Given the description of an element on the screen output the (x, y) to click on. 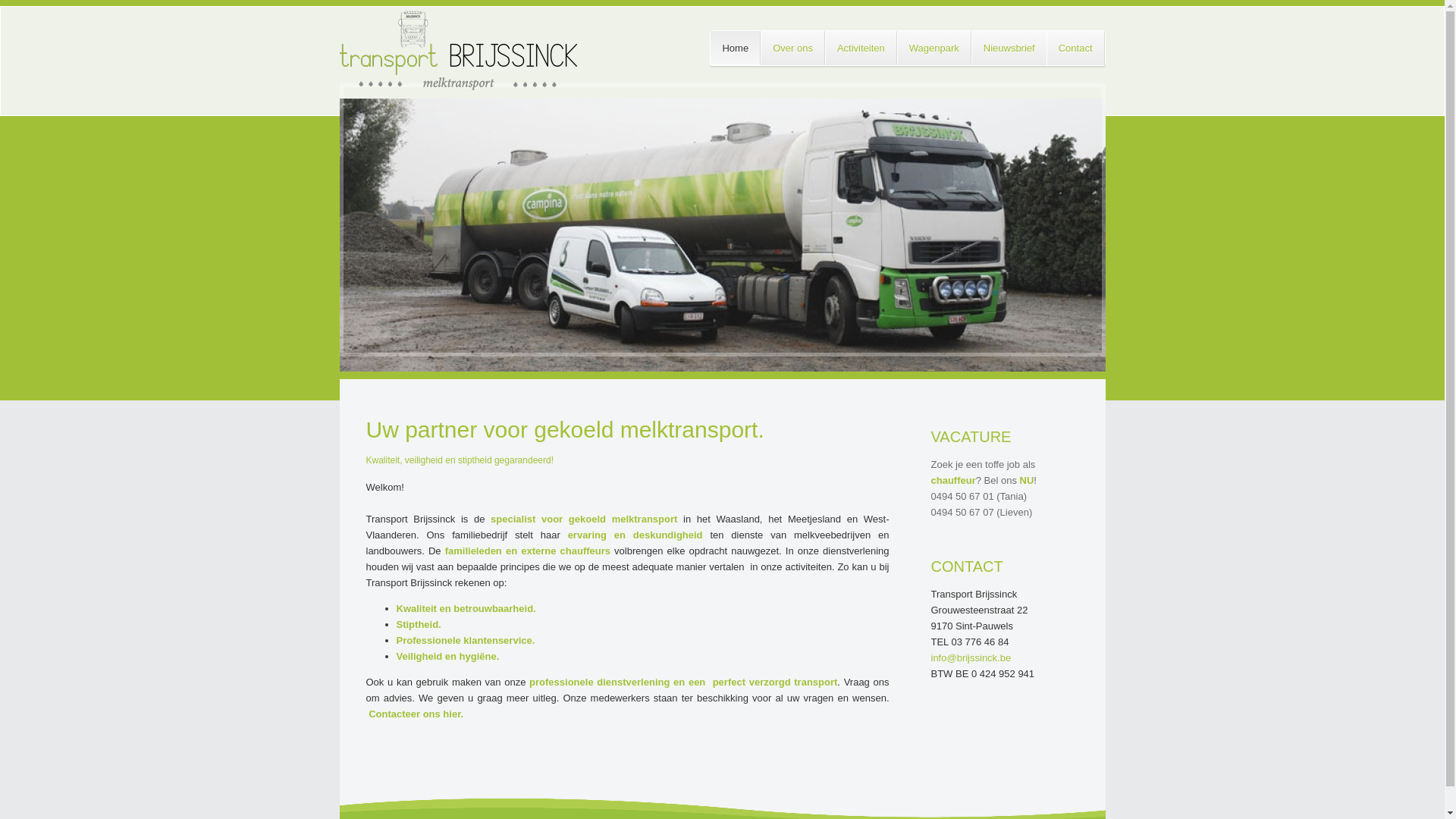
Wagenpark Element type: text (934, 48)
Over ons Element type: text (792, 48)
info@brijssinck.be Element type: text (971, 657)
Activiteiten Element type: text (861, 48)
Nieuwsbrief Element type: text (1008, 48)
Contact Element type: text (1075, 48)
Home Element type: text (735, 48)
